Given the description of an element on the screen output the (x, y) to click on. 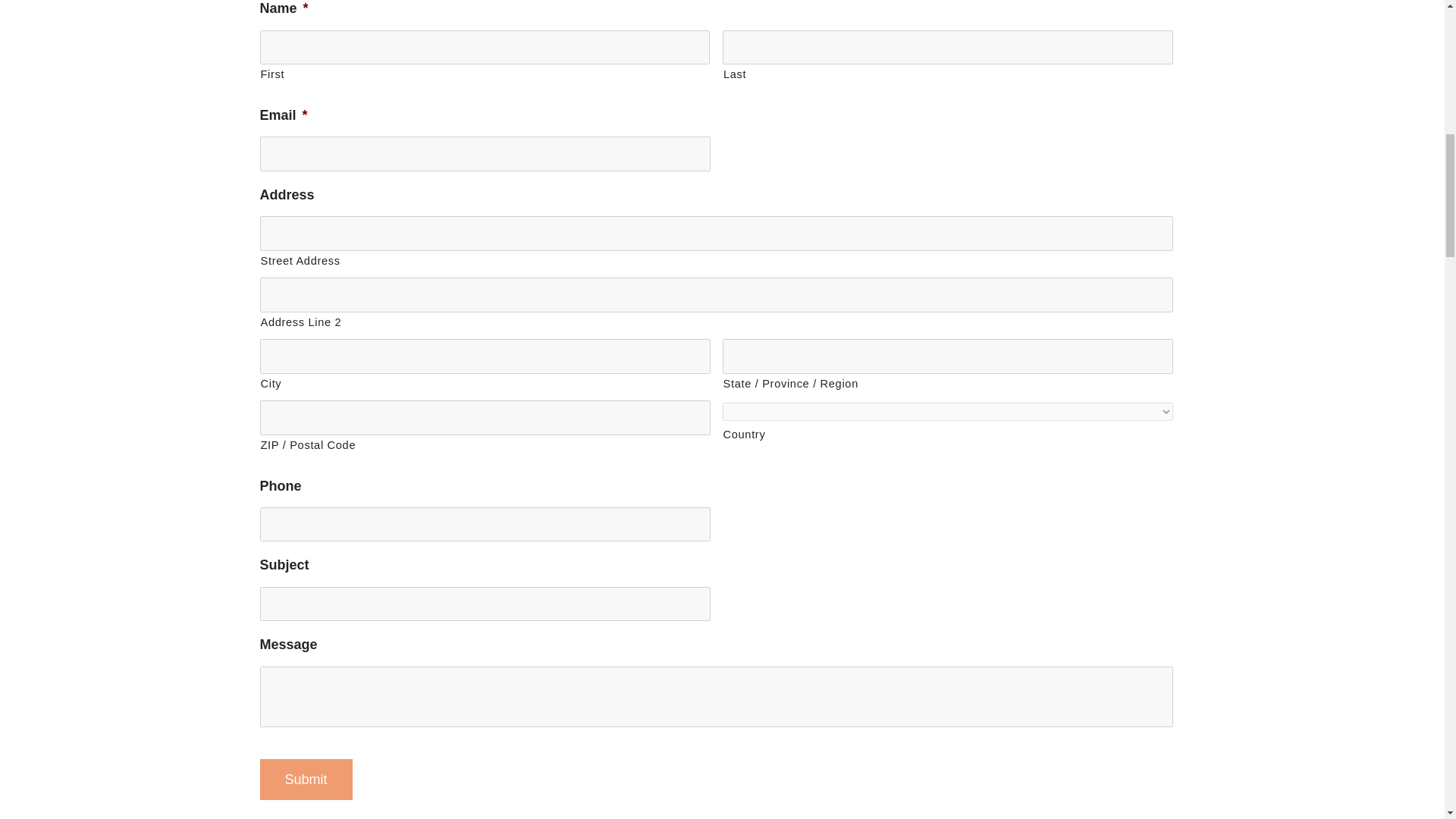
Submit (305, 779)
Submit (305, 779)
